Given the description of an element on the screen output the (x, y) to click on. 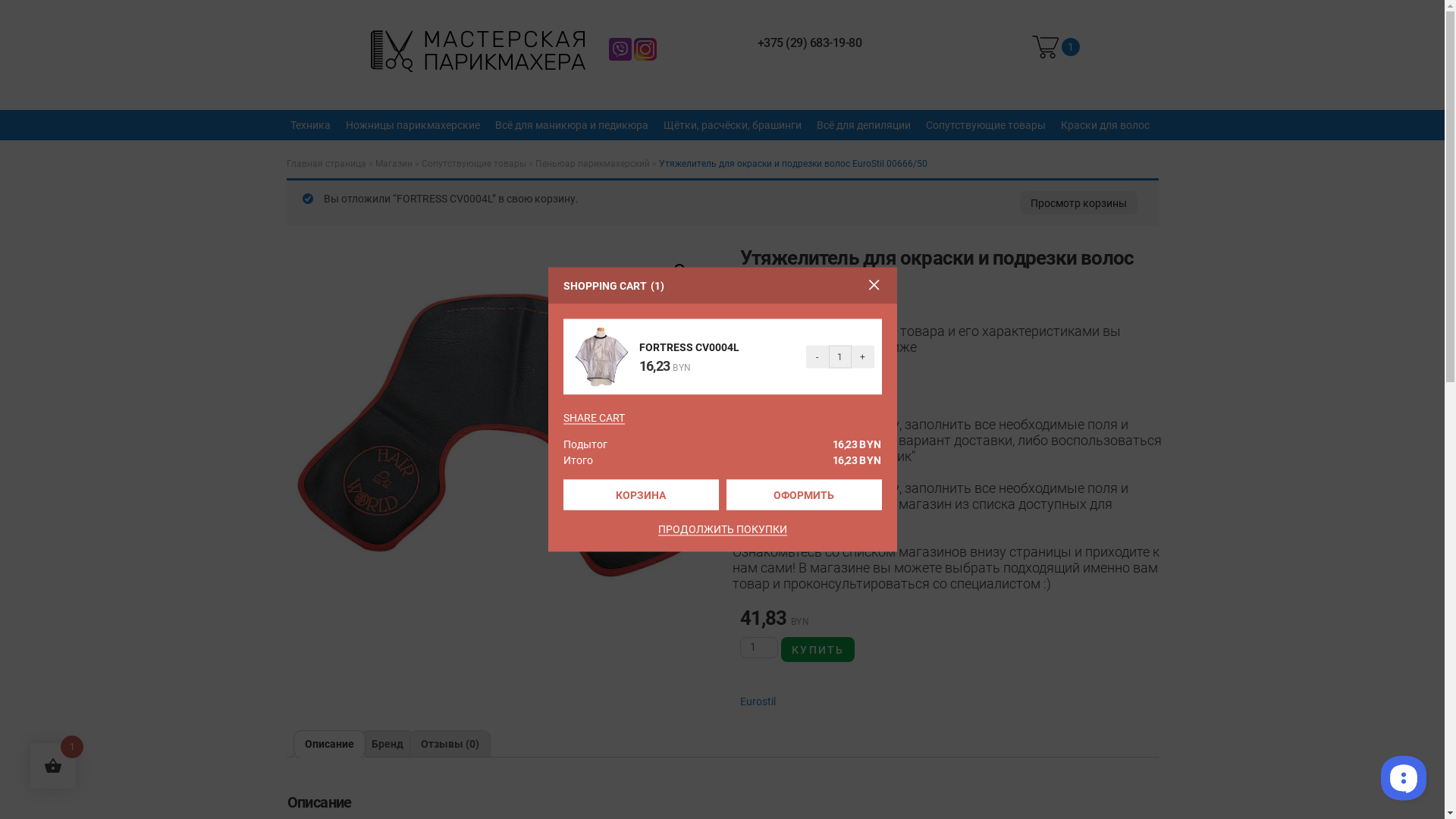
__replain_widget_iframe Element type: hover (1402, 776)
FORTRESS CV0004L Element type: text (688, 346)
1 Element type: text (1056, 46)
+375 (29) 683-19-80 Element type: text (809, 42)
EuroStil-00666-50.jpg Element type: hover (495, 455)
Eurostil Element type: text (757, 701)
